Given the description of an element on the screen output the (x, y) to click on. 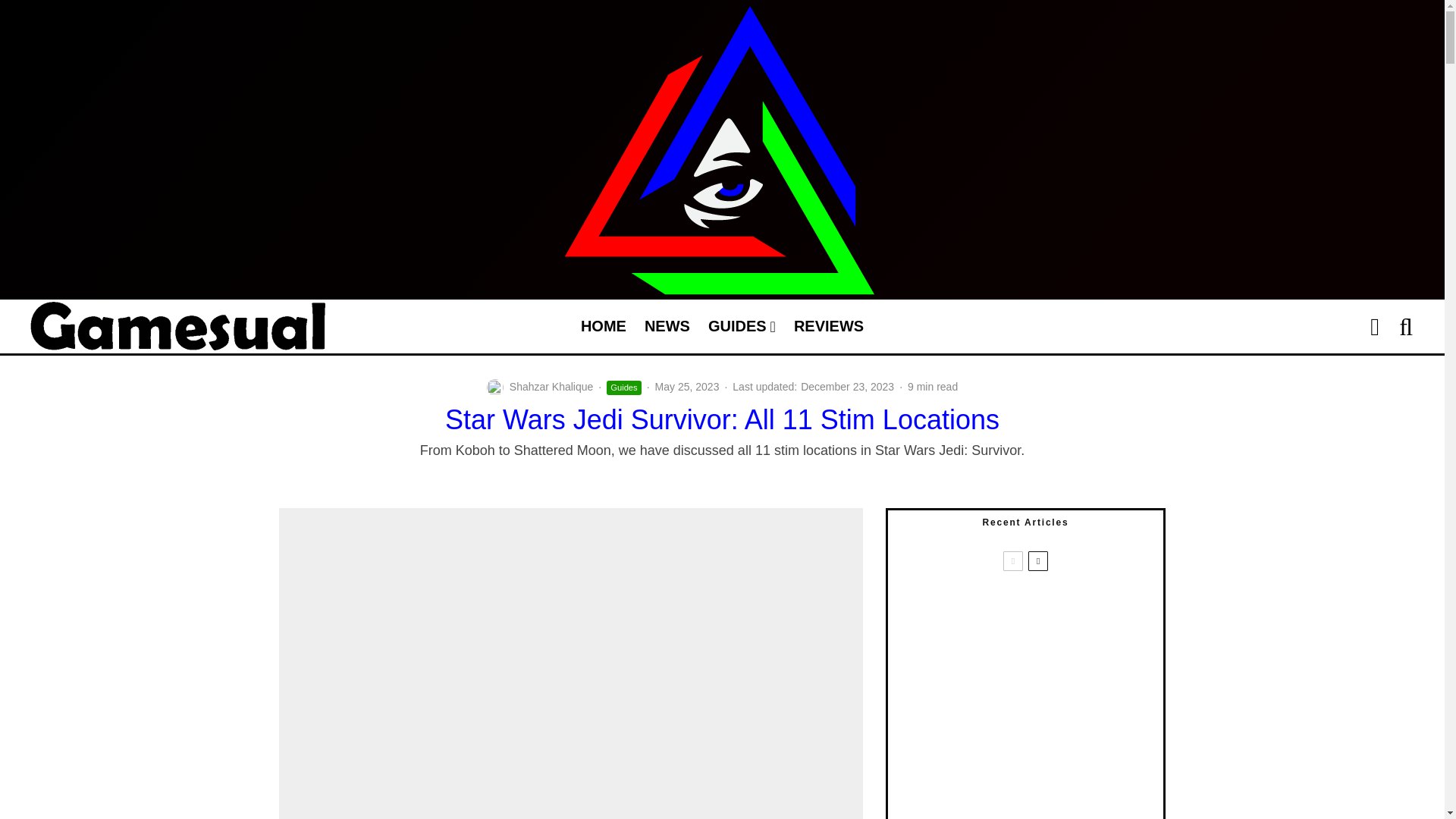
Guides (623, 387)
GUIDES (741, 325)
NEWS (666, 325)
REVIEWS (828, 325)
HOME (603, 325)
Shahzar Khalique (551, 386)
